Given the description of an element on the screen output the (x, y) to click on. 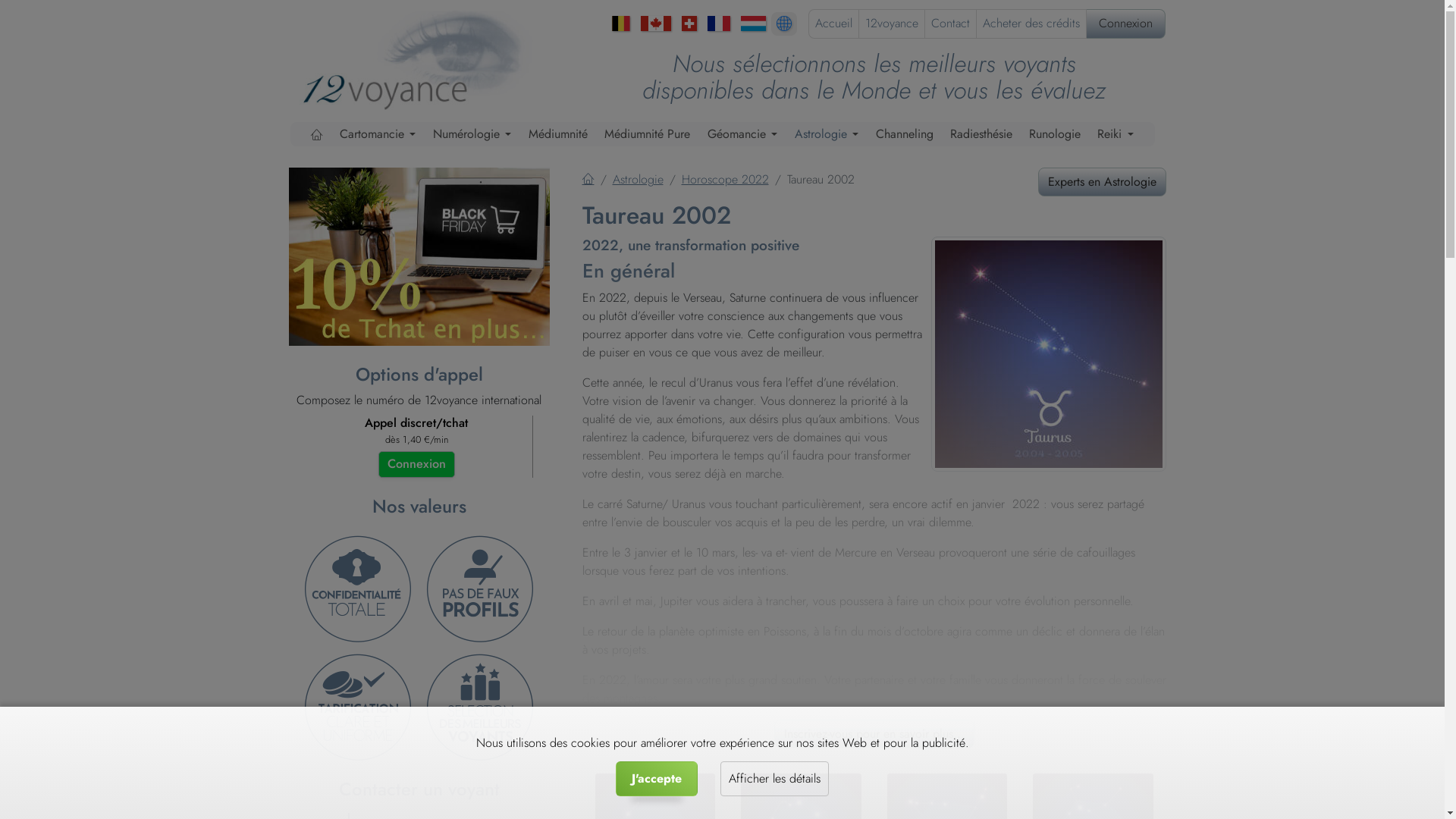
Connexion Element type: text (415, 464)
Taureau 2022 Element type: hover (1047, 353)
Experts en Astrologie Element type: text (1101, 181)
Reiki Element type: text (1115, 134)
Astrologie Element type: text (826, 134)
Astrologie Element type: text (637, 179)
Page d'accueil de 12voyance Element type: hover (425, 57)
Contact Element type: text (950, 22)
Accueil Element type: text (832, 22)
Horoscope 2022 Element type: text (724, 179)
Channeling Element type: text (904, 134)
Runologie Element type: text (1054, 134)
Taureau 2002 Element type: hover (1048, 353)
Cartomancie Element type: text (377, 134)
J'accepte Element type: text (656, 778)
12voyance Element type: text (890, 22)
Accueil Element type: hover (588, 179)
Inscrivez-vous pour en savoir plus... Element type: text (873, 733)
Connexion Element type: text (1124, 22)
